Given the description of an element on the screen output the (x, y) to click on. 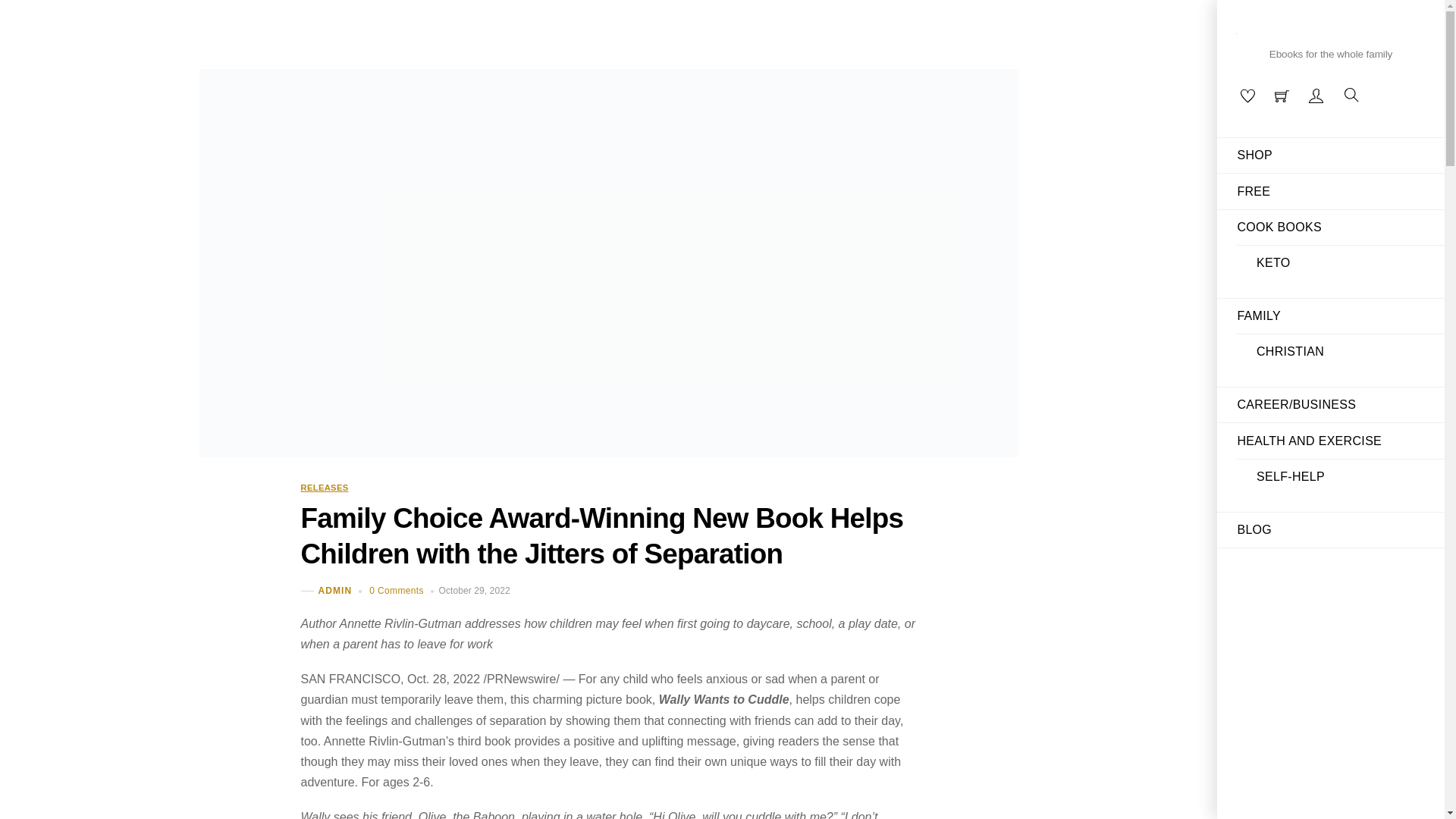
RELEASES (323, 487)
0 Comments (396, 590)
ADMIN (335, 590)
